Given the description of an element on the screen output the (x, y) to click on. 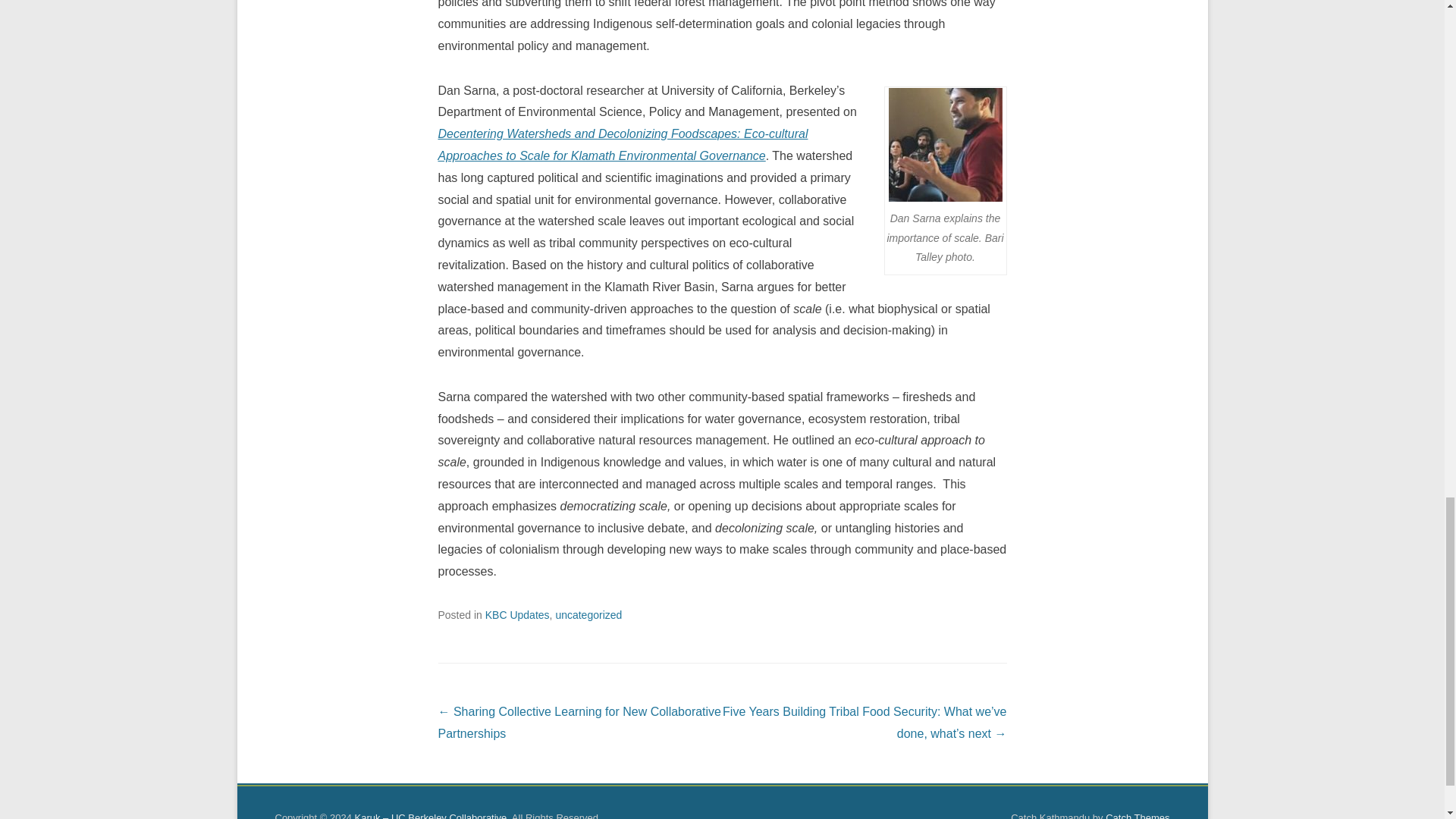
KBC Updates (517, 614)
uncategorized (587, 614)
